Given the description of an element on the screen output the (x, y) to click on. 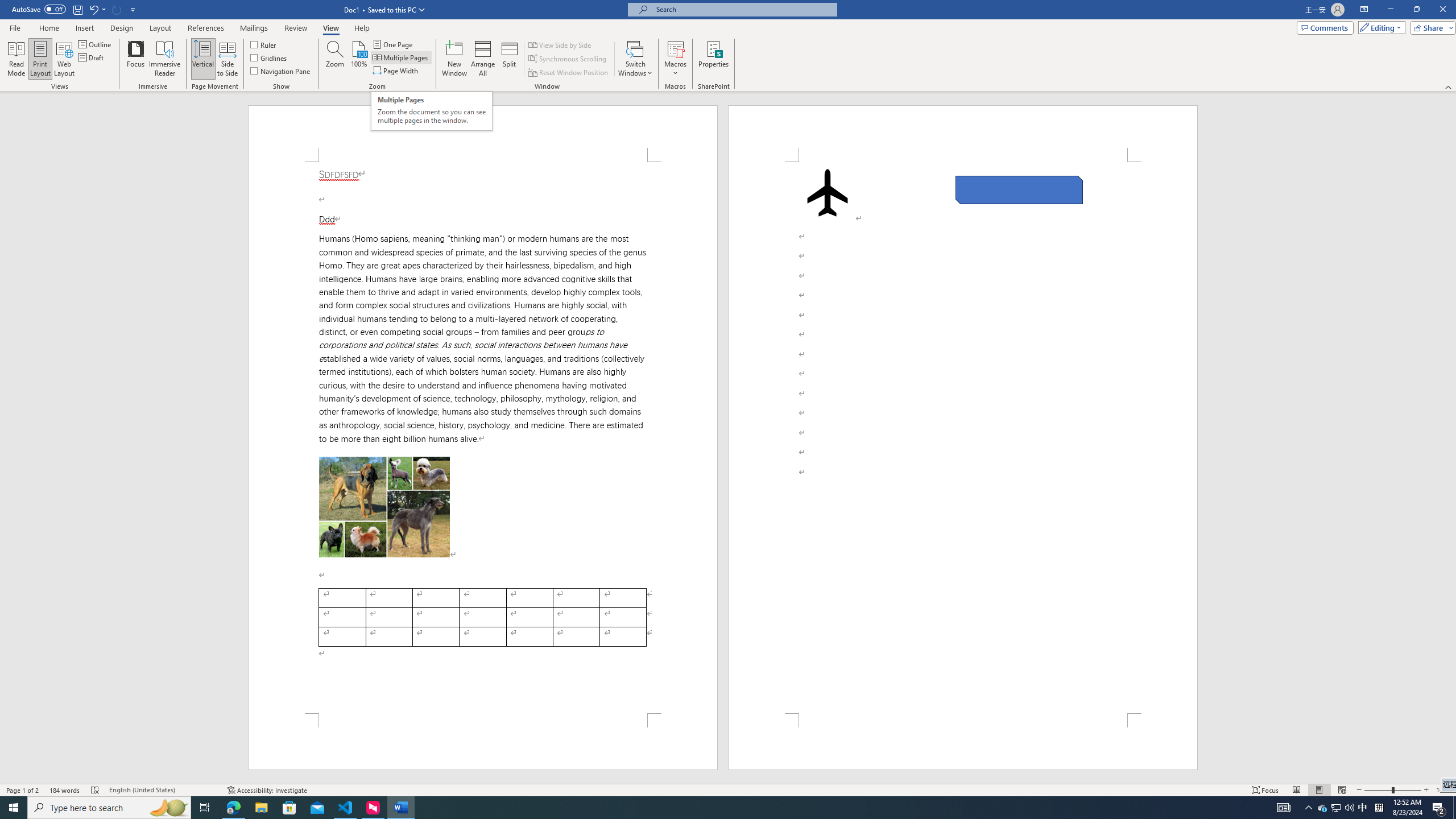
One Page (393, 44)
Zoom... (334, 58)
Gridlines (269, 56)
View Side by Side (561, 44)
100% (358, 58)
Reset Window Position (569, 72)
Airplane with solid fill (827, 192)
Split (509, 58)
Page Width (396, 69)
